Given the description of an element on the screen output the (x, y) to click on. 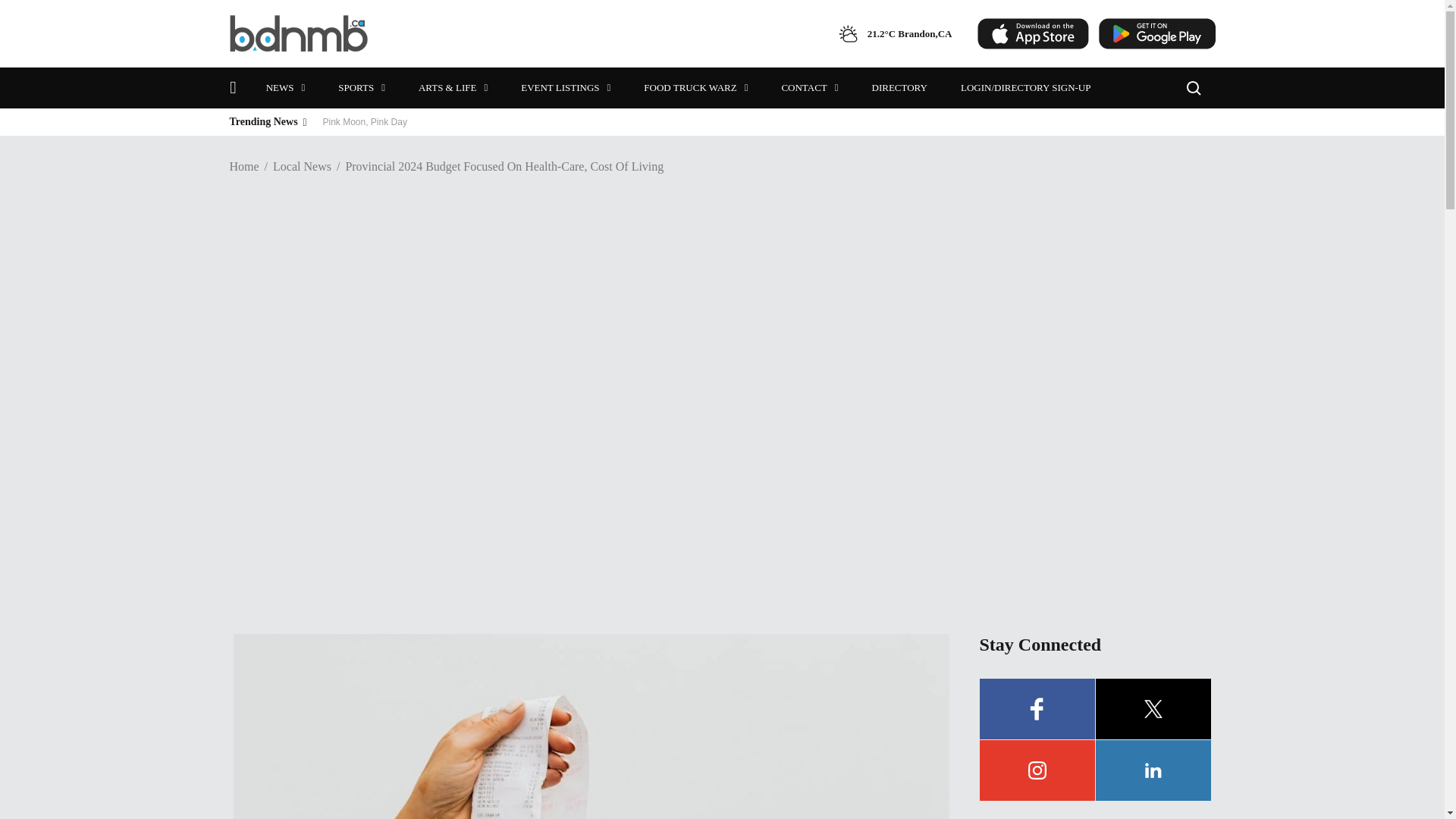
CONTACT (809, 87)
EVENT LISTINGS (565, 87)
NEWS (284, 87)
FOOD TRUCK WARZ (695, 87)
SPORTS (361, 87)
